Given the description of an element on the screen output the (x, y) to click on. 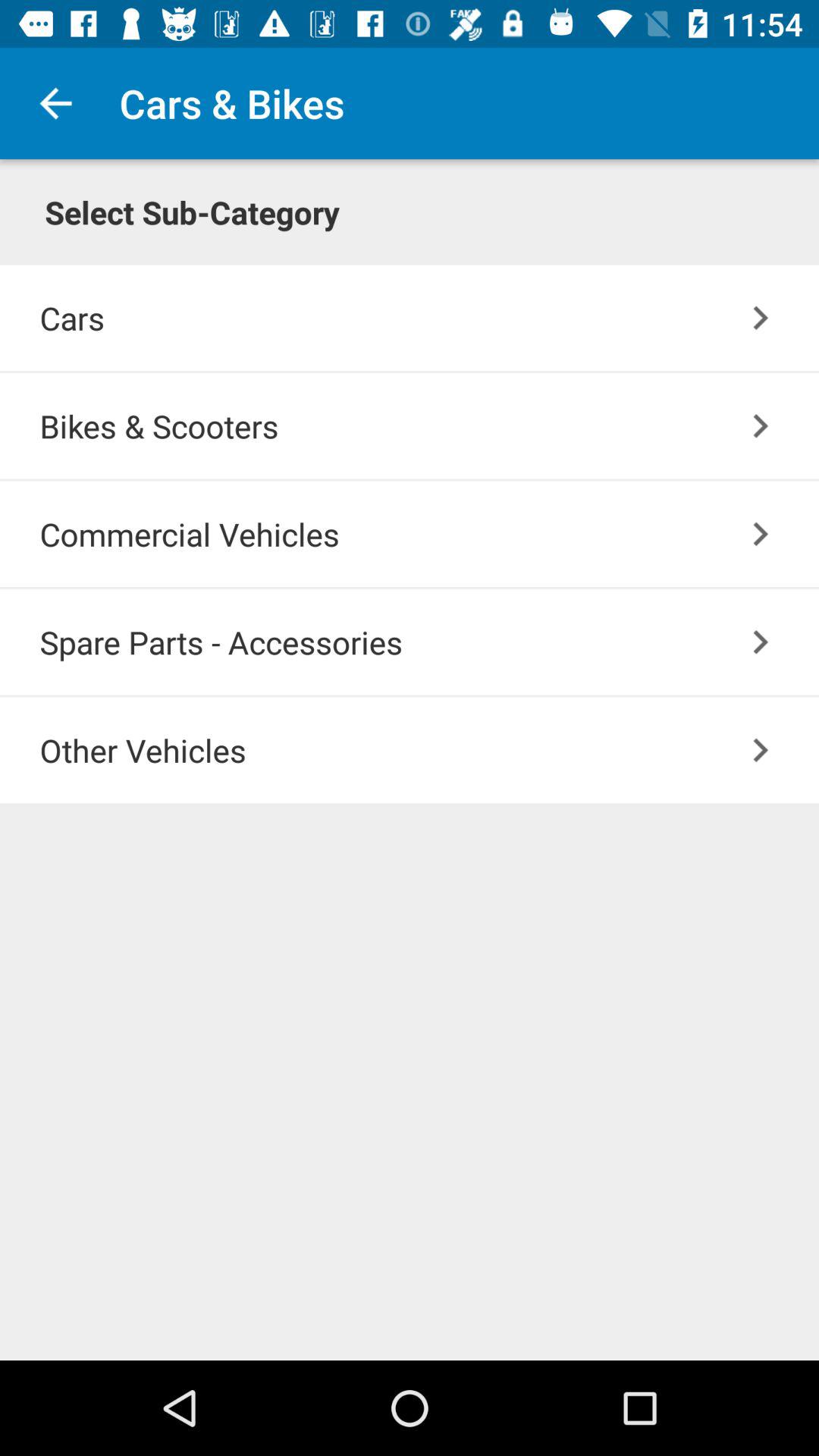
launch item above the other vehicles icon (760, 642)
